Given the description of an element on the screen output the (x, y) to click on. 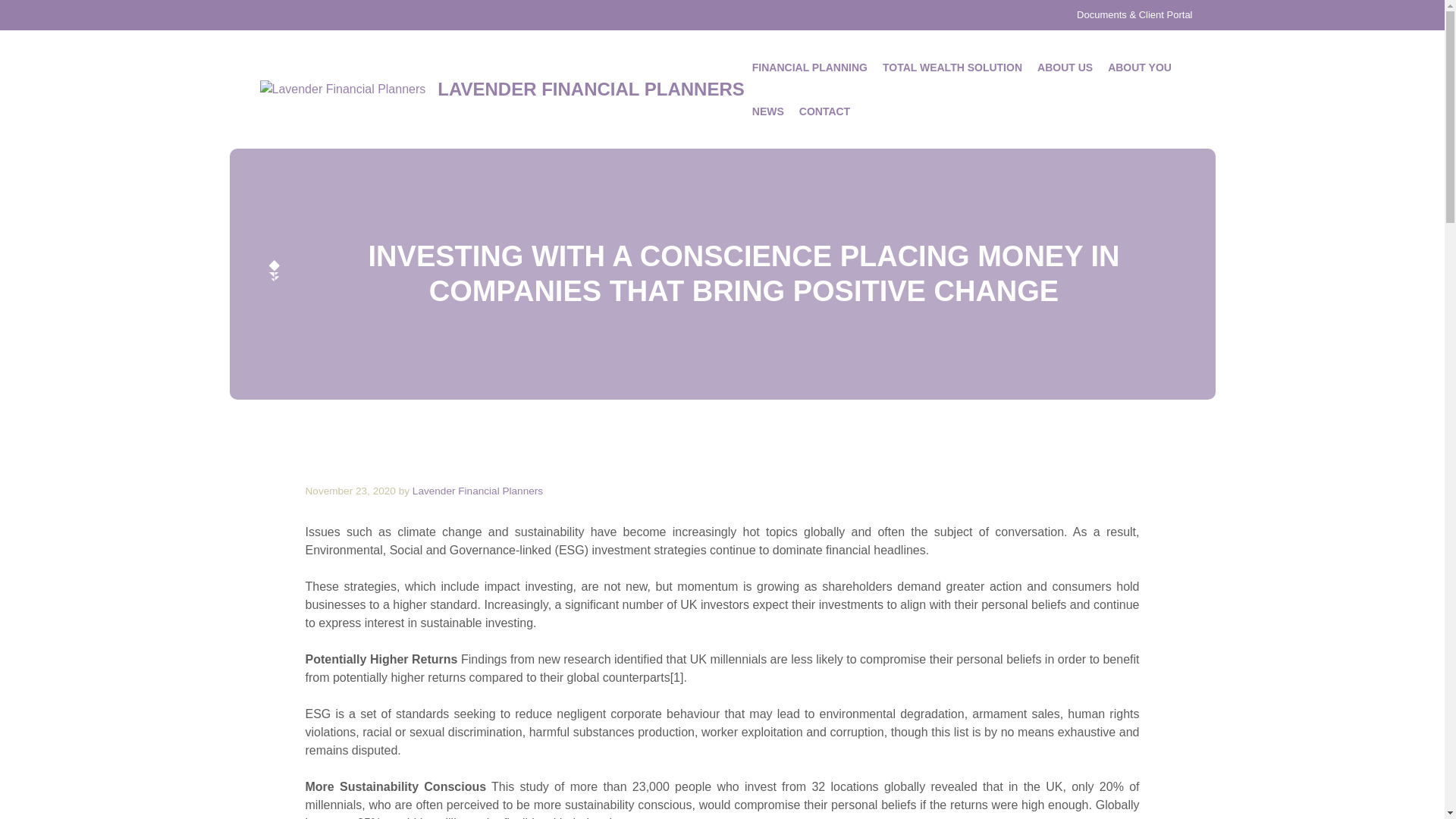
View all posts by Lavender Financial Planners (477, 490)
TOTAL WEALTH SOLUTION (952, 67)
Lavender Financial Planners (477, 490)
ABOUT US (1064, 67)
FINANCIAL PLANNING (809, 67)
ABOUT YOU (1139, 67)
Lavender Financial Planners (342, 88)
CONTACT (824, 111)
Lavender Financial Planners (342, 89)
LAVENDER FINANCIAL PLANNERS (591, 88)
NEWS (768, 111)
